Given the description of an element on the screen output the (x, y) to click on. 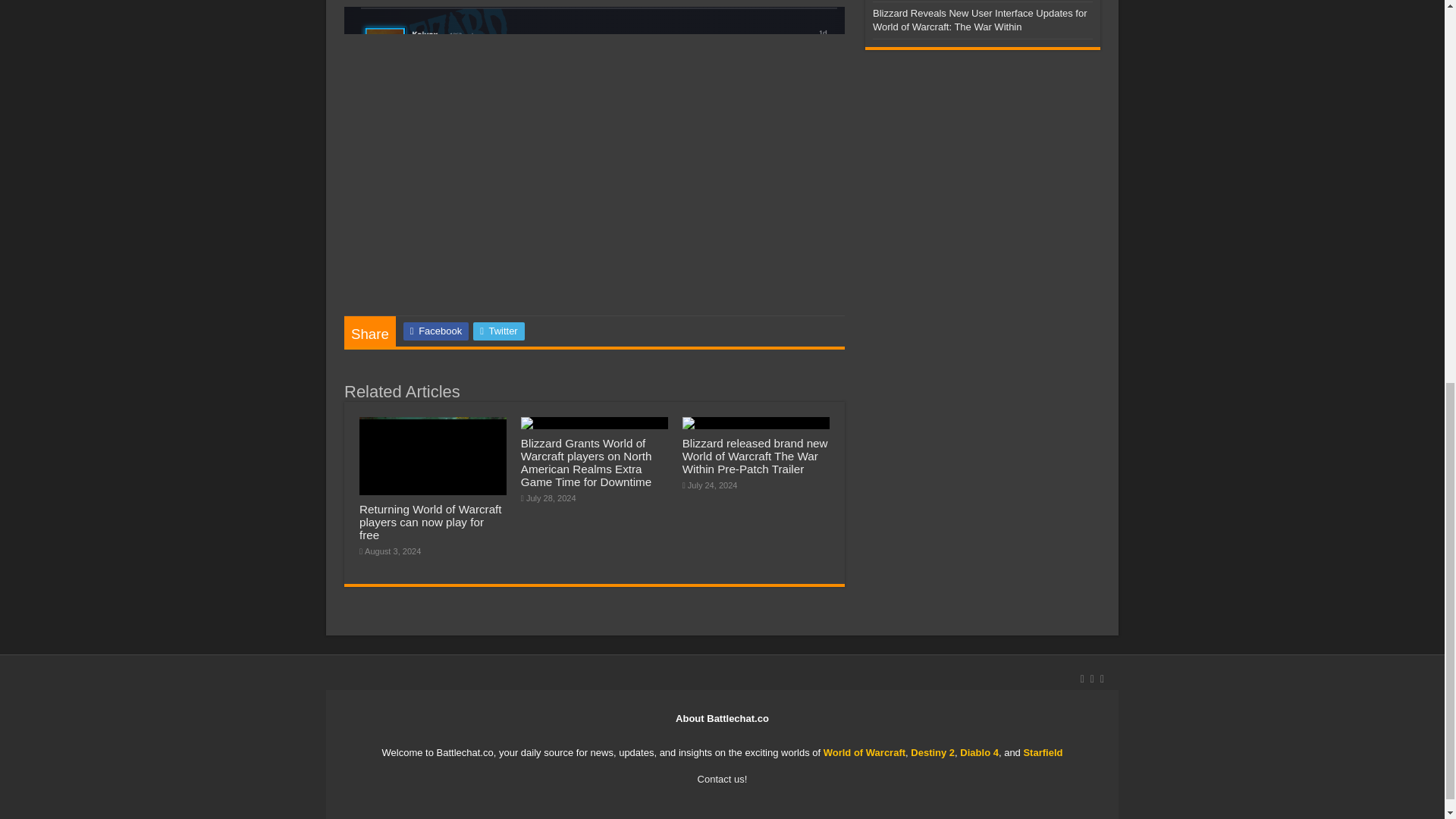
Facebook (435, 331)
Twitter (498, 331)
Contact us! (722, 778)
Returning World of Warcraft players can now play for free (430, 521)
Scroll To Top (1421, 146)
